Given the description of an element on the screen output the (x, y) to click on. 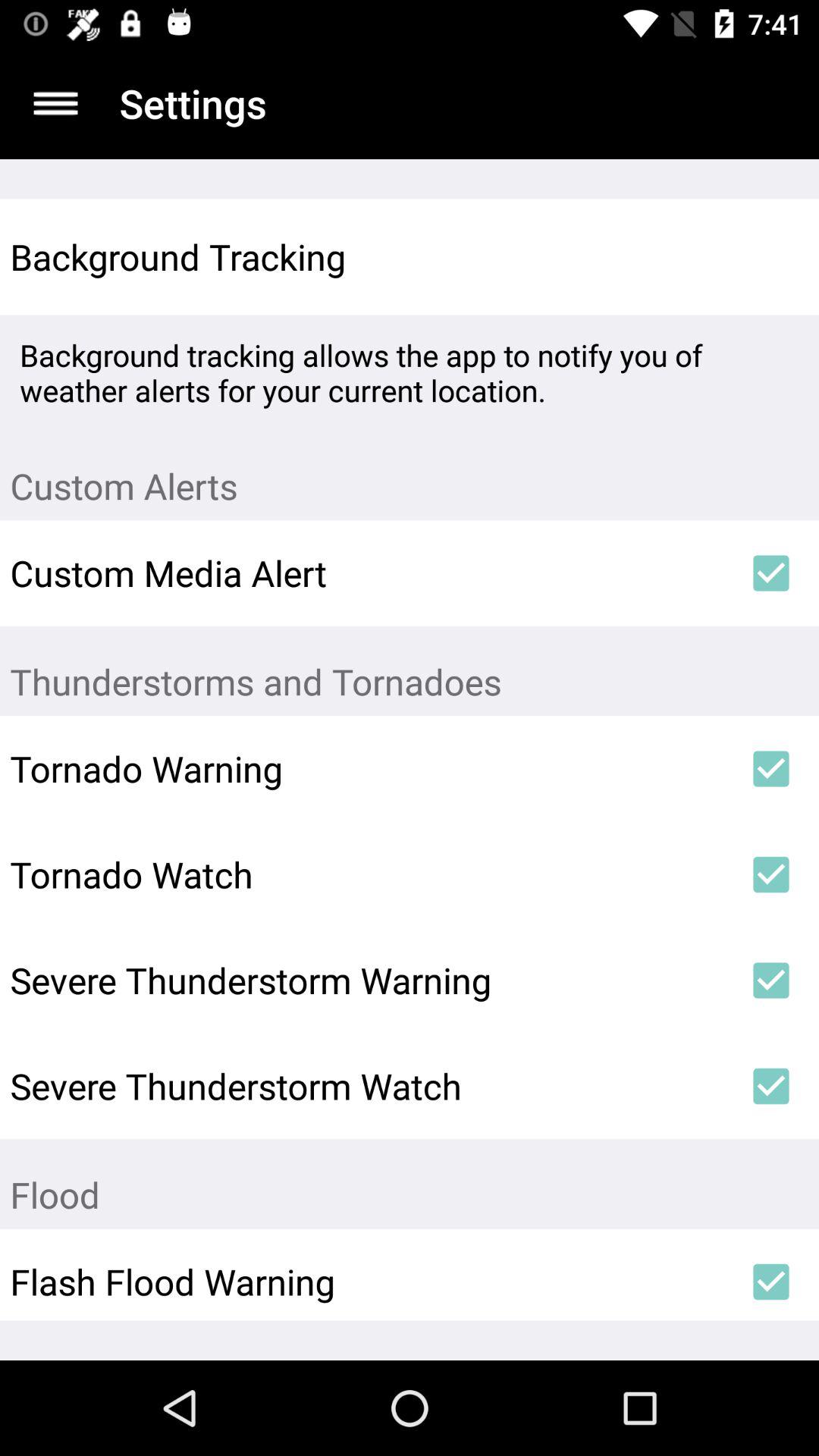
choose item to the right of severe thunderstorm warning icon (771, 980)
